Given the description of an element on the screen output the (x, y) to click on. 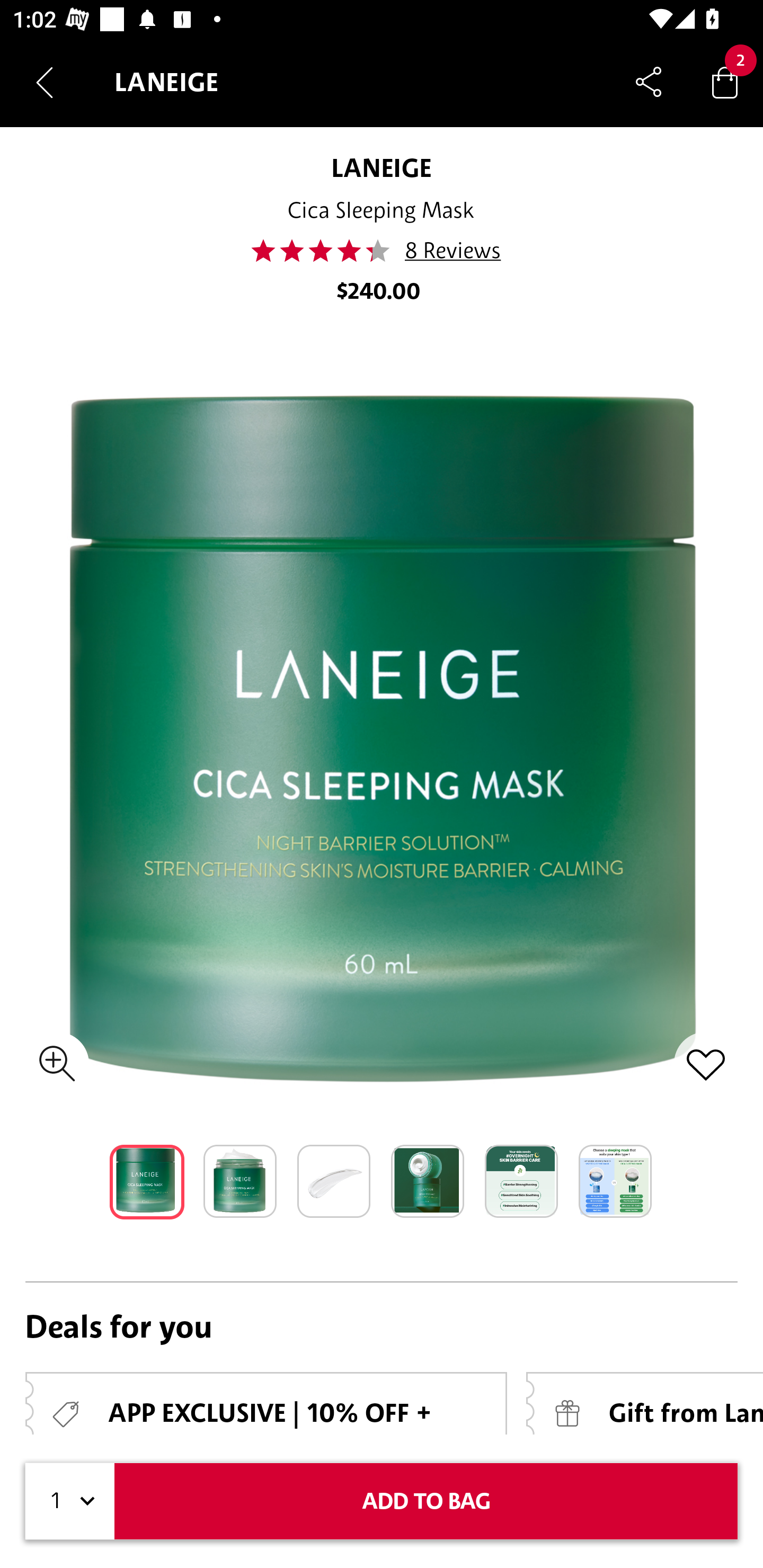
Navigate up (44, 82)
Share (648, 81)
Bag (724, 81)
LANEIGE (381, 167)
43.0 8 Reviews (381, 250)
1 (69, 1500)
ADD TO BAG (425, 1500)
